Given the description of an element on the screen output the (x, y) to click on. 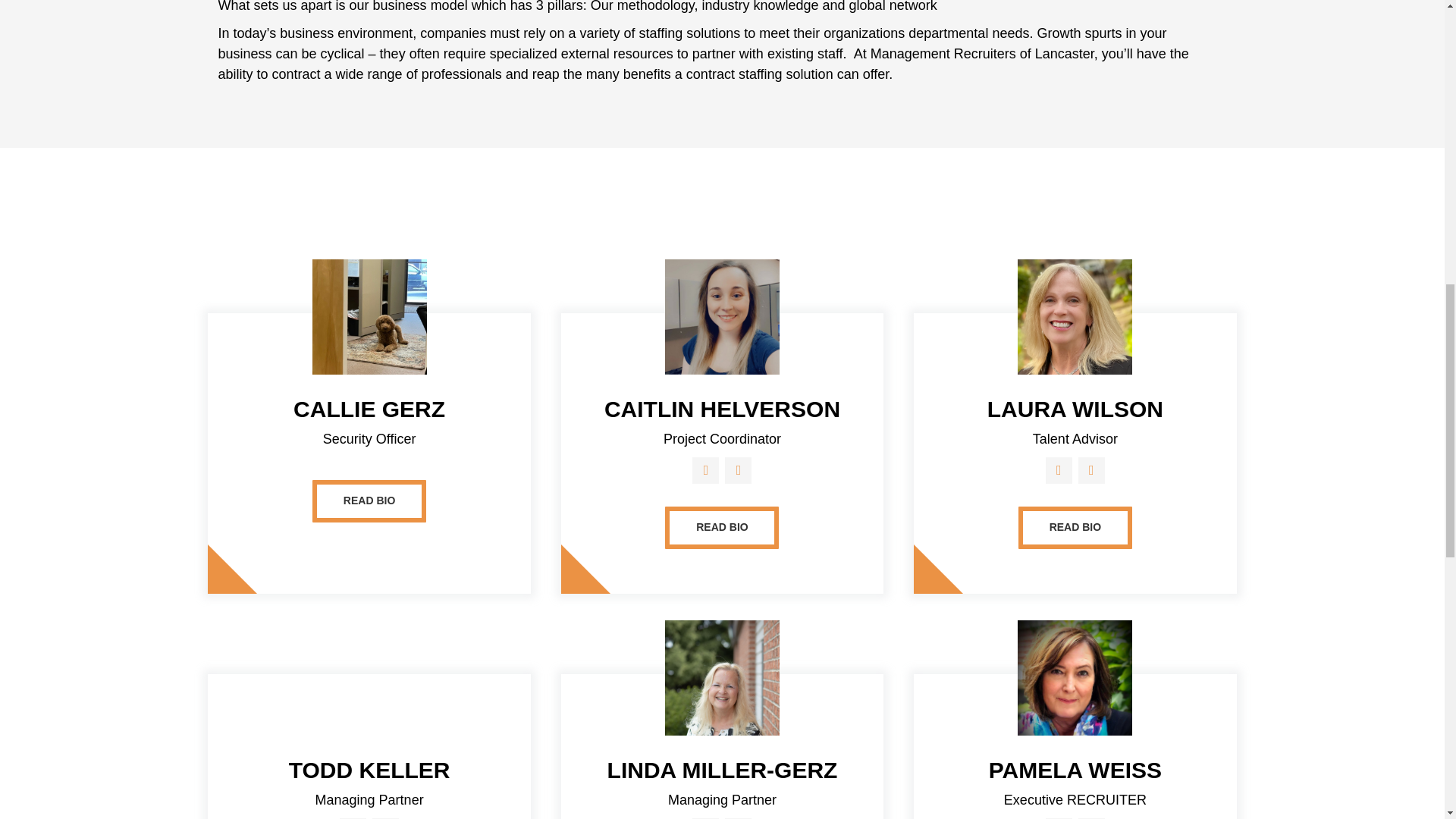
READ BIO (1074, 527)
READ BIO (369, 500)
READ BIO (721, 527)
